Given the description of an element on the screen output the (x, y) to click on. 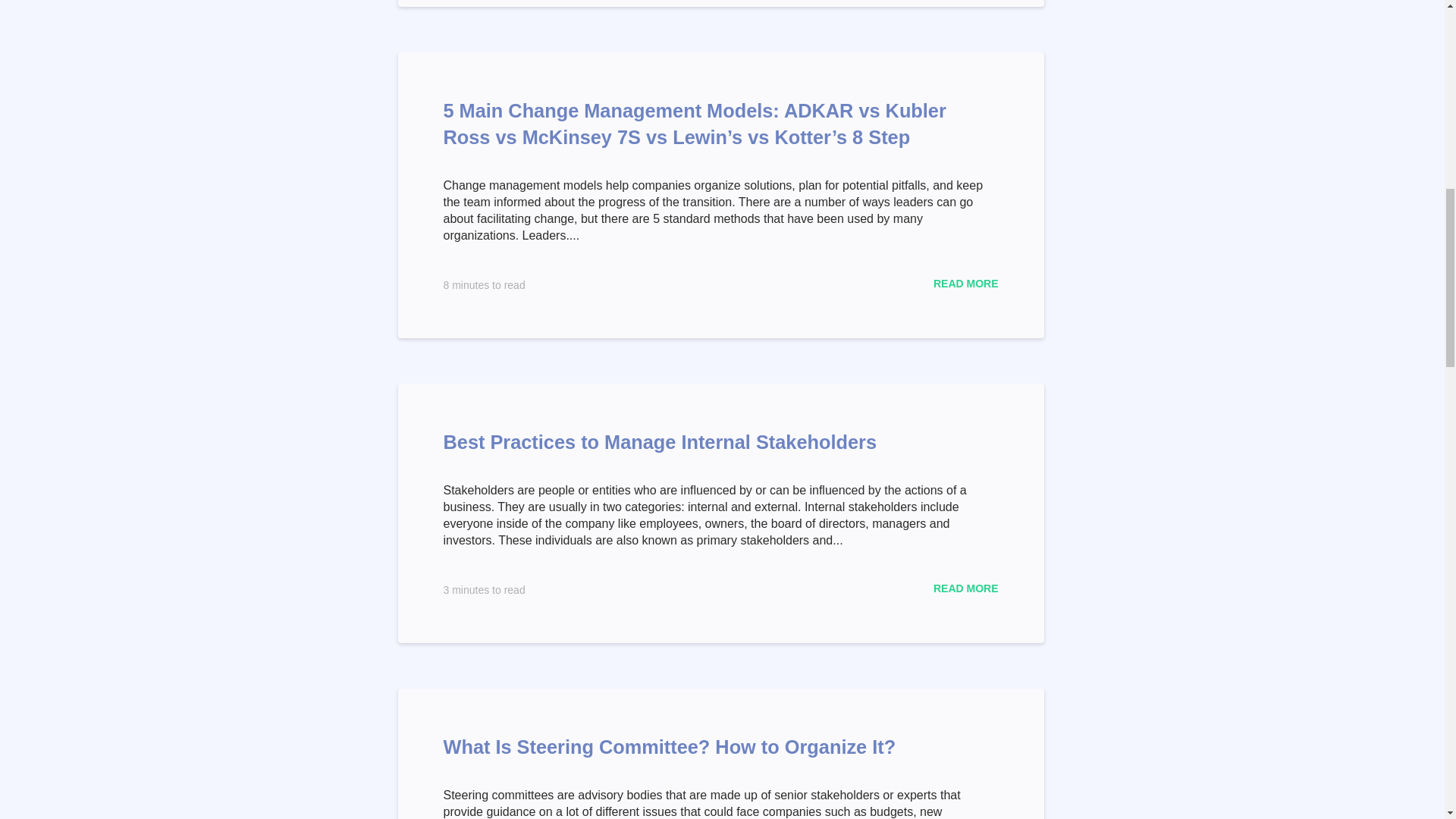
Best Practices to Manage Internal Stakeholders (659, 441)
READ MORE (965, 283)
READ MORE (965, 588)
What Is Steering Committee? How to Organize It? (668, 746)
